Given the description of an element on the screen output the (x, y) to click on. 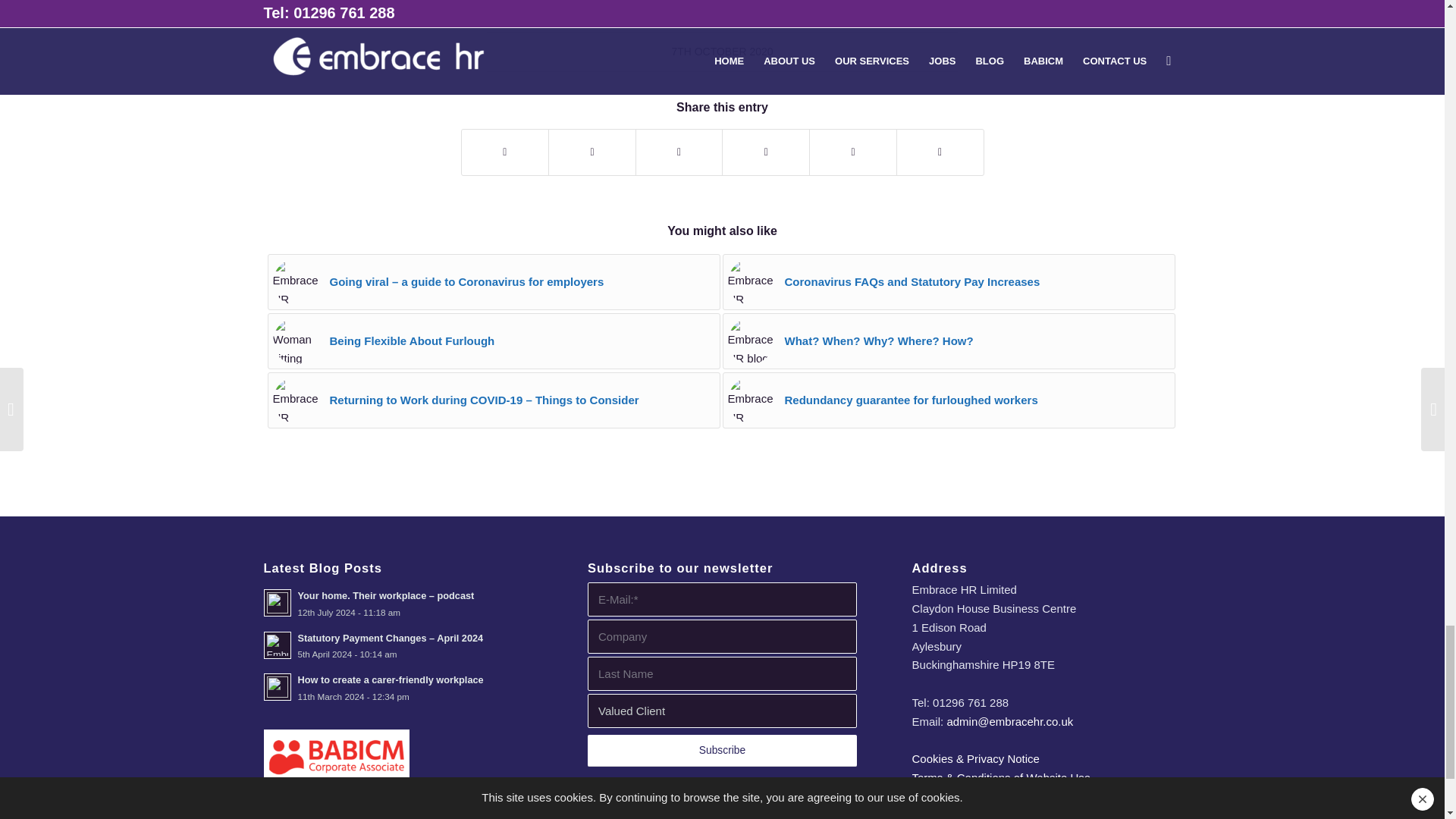
Coronavirus FAQs and Statutory Pay Increases (948, 281)
Being Flexible About Furlough (492, 340)
Subscribe (722, 750)
Valued Client (722, 710)
social-media-image-stella-support-worker (295, 281)
Embrace HR Aylesbury key worker pexels-anna-shvets-3683098 (750, 281)
woman-sitting-on-luggage-3943882 (295, 340)
